Given the description of an element on the screen output the (x, y) to click on. 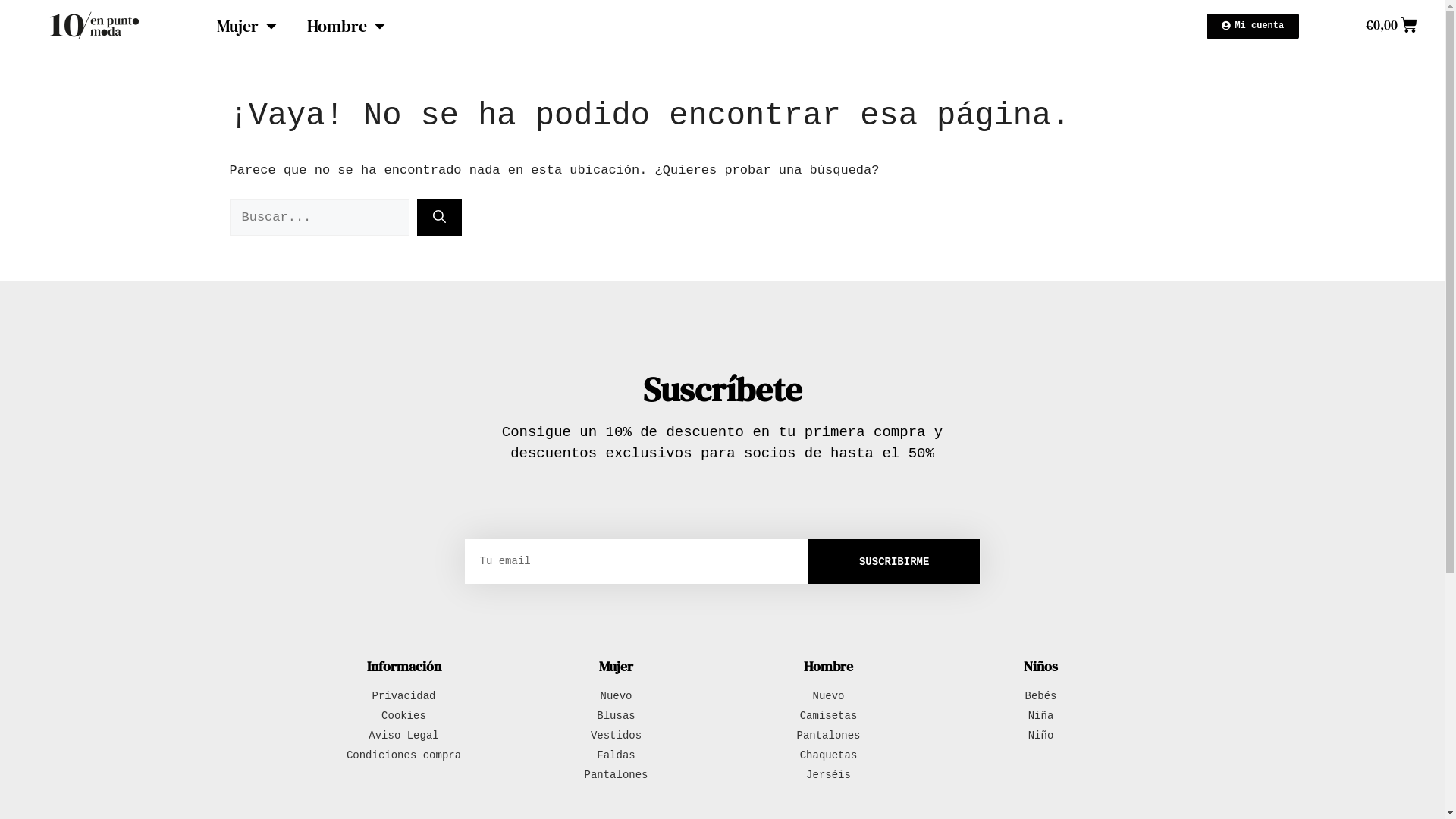
Cookies Element type: text (403, 716)
Mujer Element type: text (616, 665)
Buscar: Element type: hover (318, 217)
Chaquetas Element type: text (827, 755)
Blusas Element type: text (615, 716)
Faldas Element type: text (615, 755)
Privacidad Element type: text (403, 696)
Condiciones compra Element type: text (403, 755)
Mi cuenta Element type: text (1252, 25)
Hombre Element type: text (828, 665)
Mujer Element type: text (246, 25)
Pantalones Element type: text (827, 735)
Vestidos Element type: text (615, 735)
SUSCRIBIRME Element type: text (894, 561)
Camisetas Element type: text (827, 716)
Hombre Element type: text (345, 25)
Aviso Legal Element type: text (403, 735)
Pantalones Element type: text (615, 775)
